Given the description of an element on the screen output the (x, y) to click on. 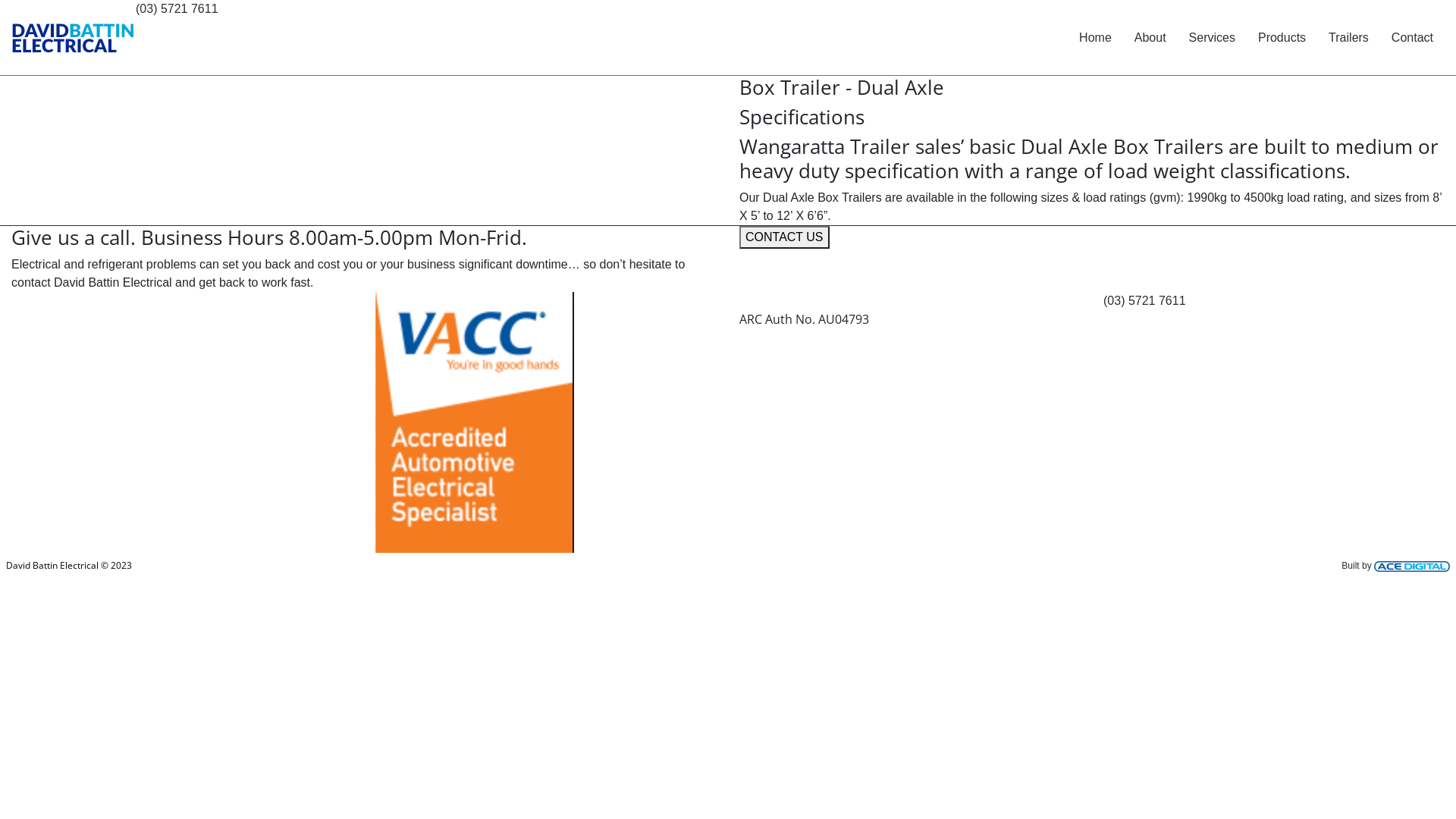
About Element type: text (1150, 37)
(03) 5721 7611 Element type: text (176, 8)
Products Element type: text (1281, 37)
Home Element type: text (1095, 37)
CONTACT US Element type: text (784, 236)
Trailers Element type: text (1348, 37)
CONTACT US Element type: text (784, 236)
Built by Element type: text (1395, 565)
(03) 5721 7611 Element type: text (1144, 300)
Contact Element type: text (1412, 37)
Services Element type: text (1211, 37)
